Given the description of an element on the screen output the (x, y) to click on. 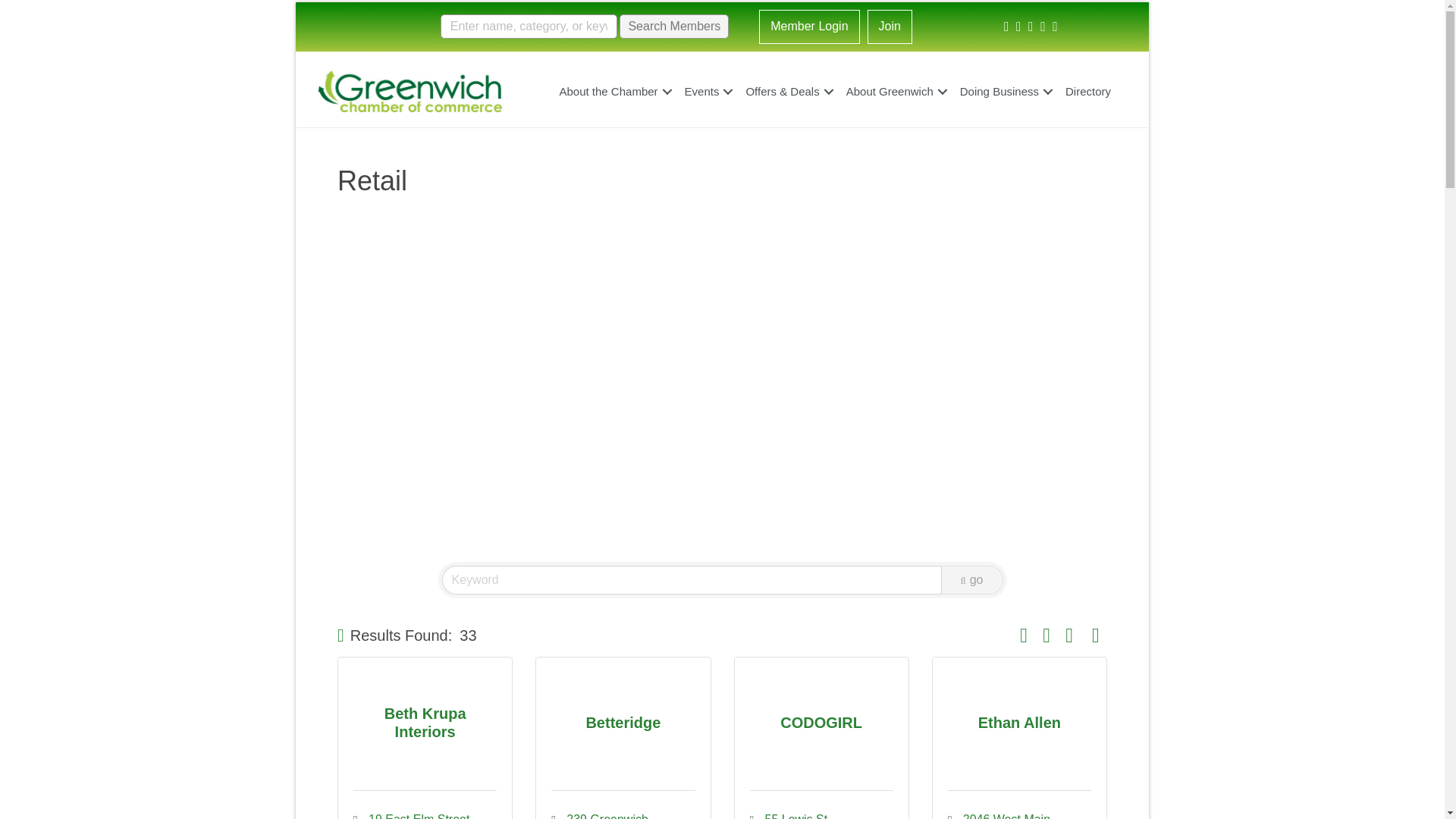
Back to Search (340, 635)
List View (1095, 635)
Sort by Z-A (1023, 635)
About the Chamber (613, 91)
View on Map (1069, 635)
Search Members (674, 26)
About Greenwich (895, 91)
Member Login (808, 26)
Events (707, 91)
Search Members (674, 26)
Greenwich500w (410, 91)
Join (889, 26)
Search Members (674, 26)
Print (1046, 635)
